Given the description of an element on the screen output the (x, y) to click on. 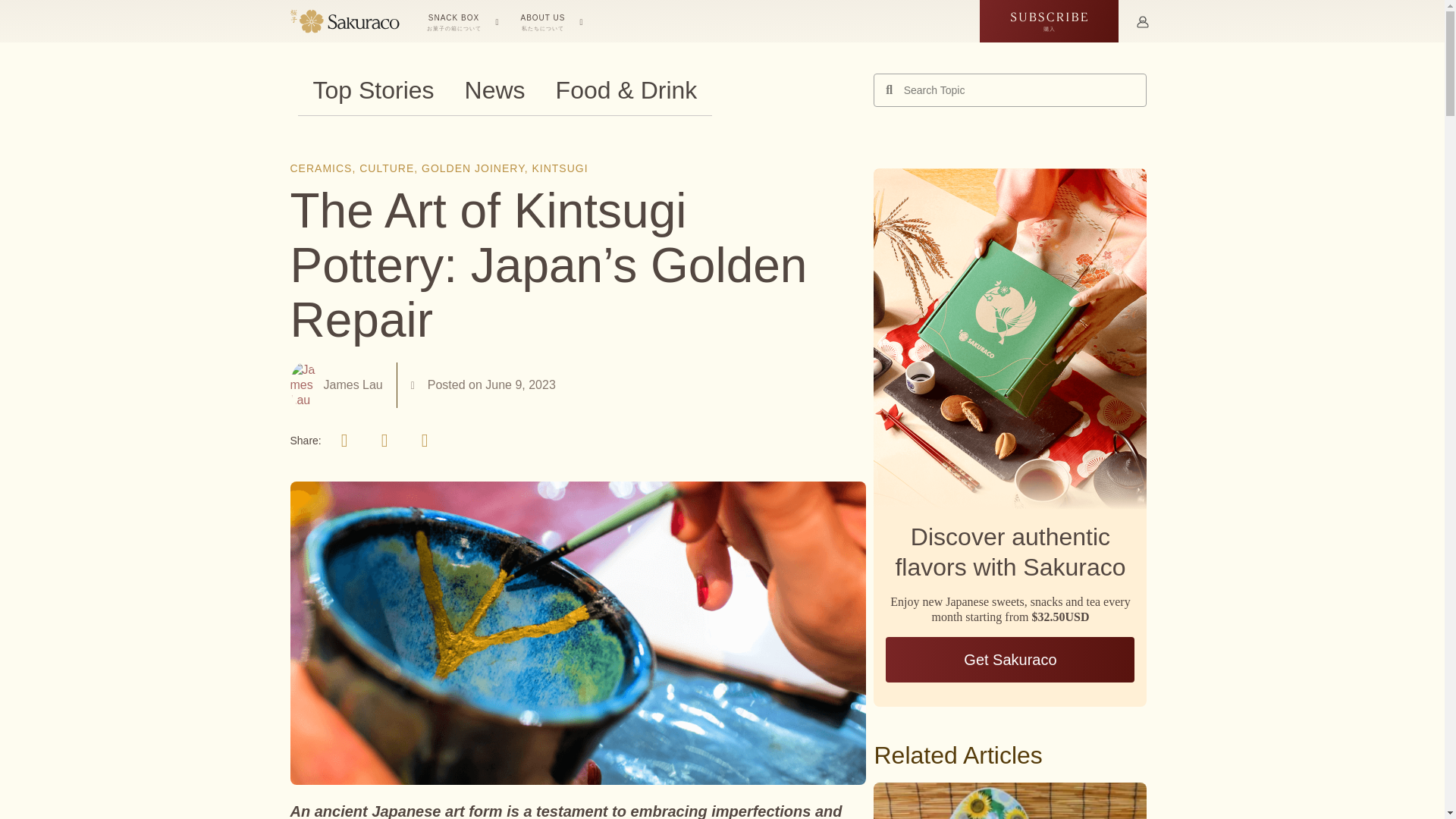
ABOUT US (544, 20)
Search (1018, 90)
Top Stories (372, 90)
SNACK BOX (454, 20)
News (494, 90)
